Given the description of an element on the screen output the (x, y) to click on. 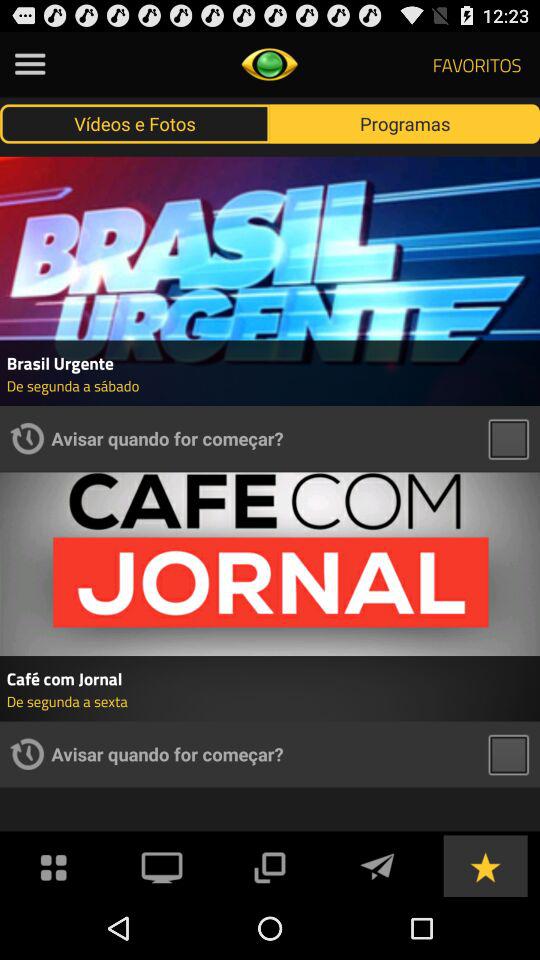
swipe to programas icon (405, 123)
